Given the description of an element on the screen output the (x, y) to click on. 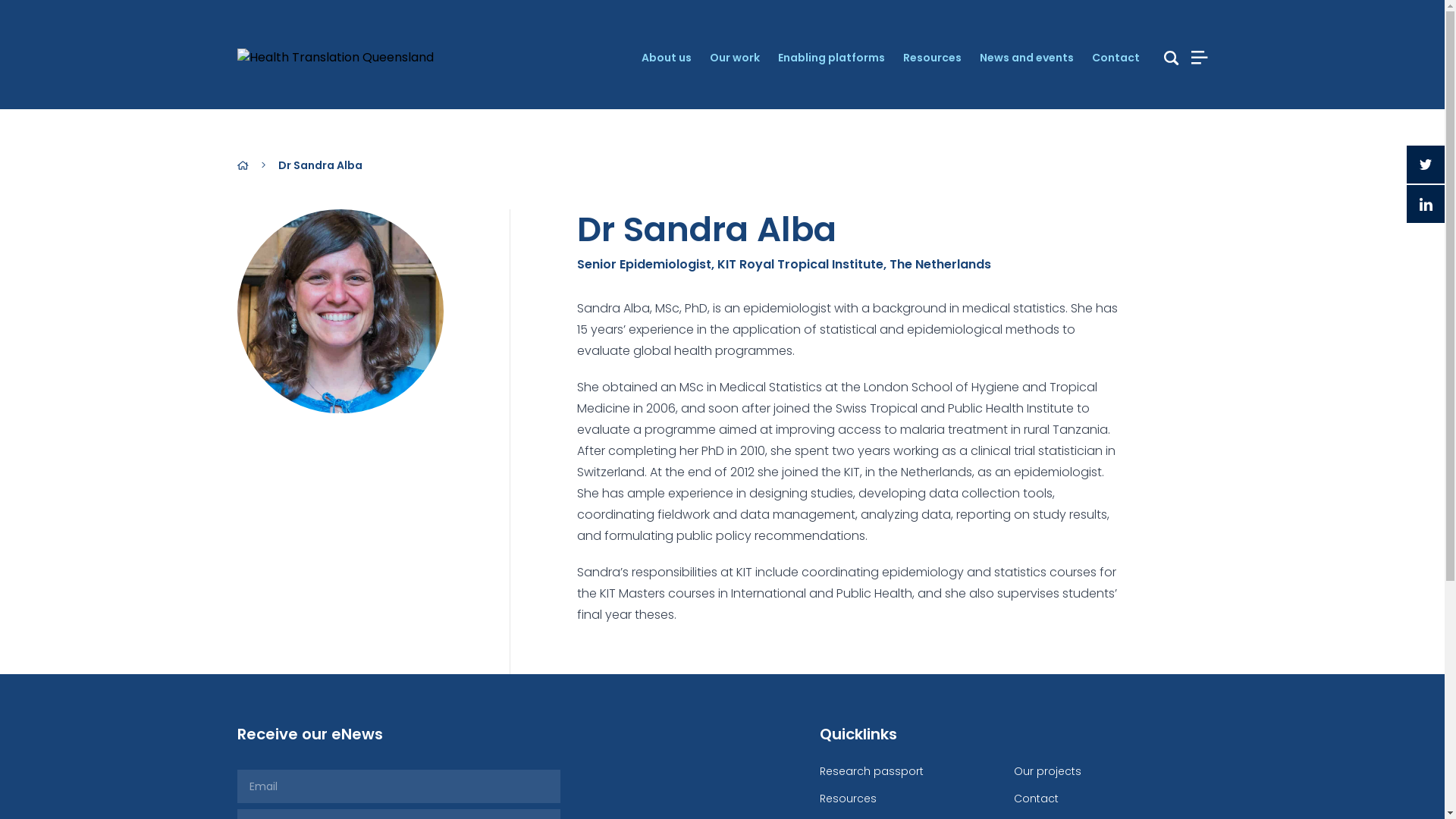
Contact Element type: text (1035, 798)
Contact Element type: text (1115, 57)
Our projects Element type: text (1046, 770)
Research passport Element type: text (870, 770)
Resources Element type: text (847, 798)
Resources Element type: text (931, 57)
> Element type: text (250, 171)
Our work Element type: text (734, 57)
News and events Element type: text (1026, 57)
Enabling platforms Element type: text (831, 57)
About us Element type: text (666, 57)
